Given the description of an element on the screen output the (x, y) to click on. 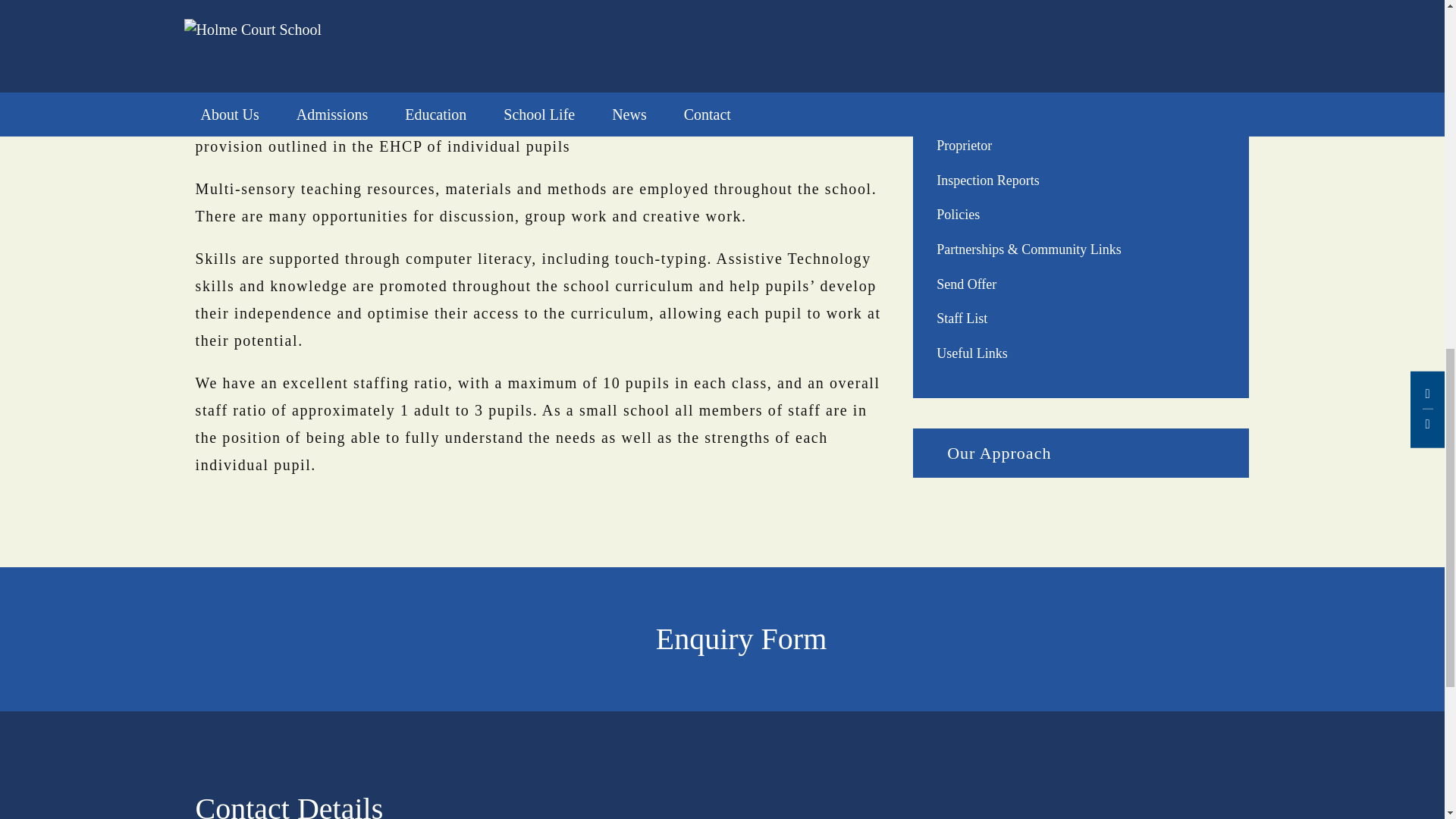
Twitter (1219, 810)
Facebook (1187, 810)
